Given the description of an element on the screen output the (x, y) to click on. 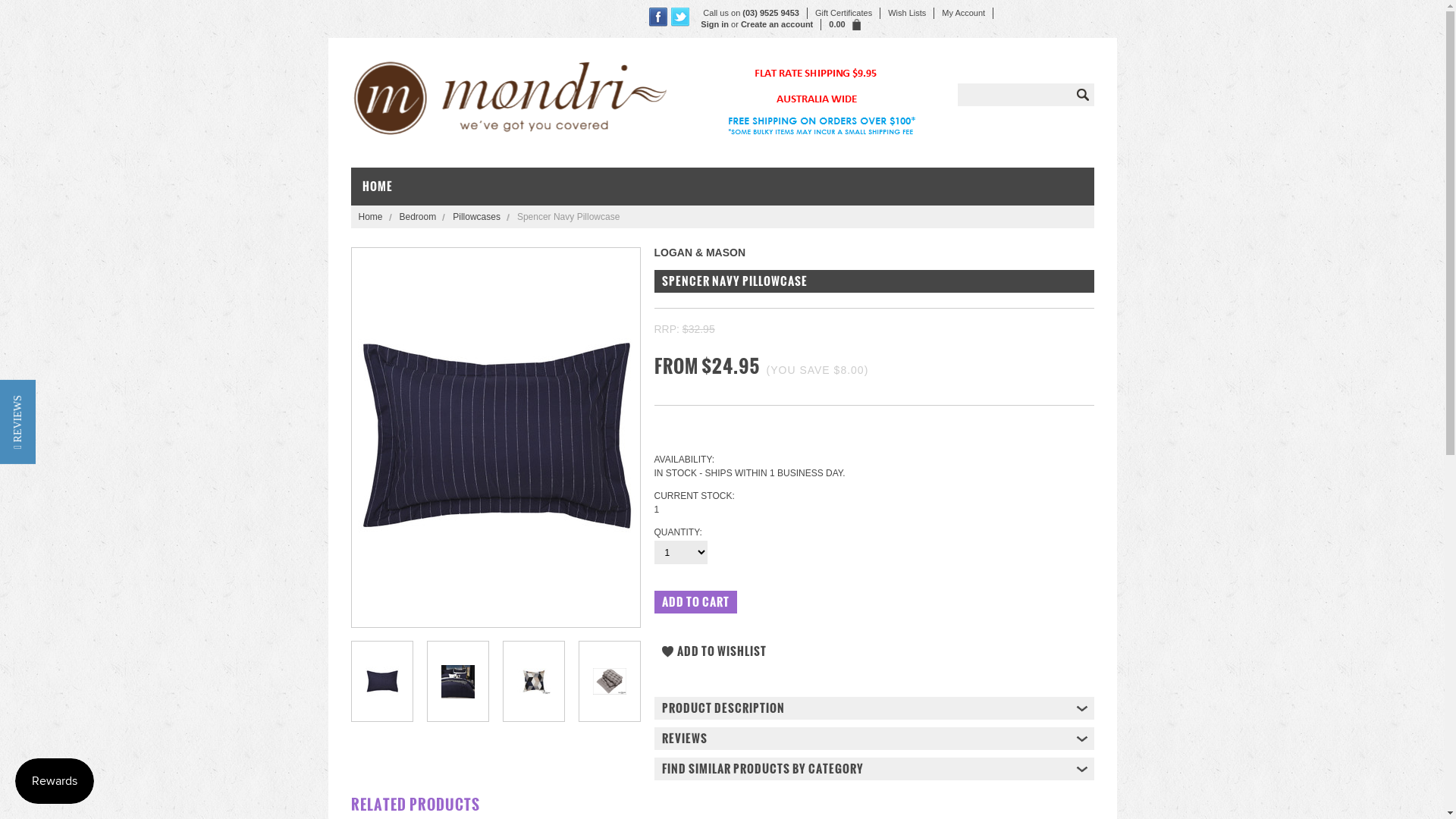
Create an account Element type: text (776, 23)
0 Element type: text (457, 680)
Pillowcase Element type: hover (495, 435)
Facebook Element type: text (658, 16)
Pillowcase Element type: hover (381, 681)
Wish Lists Element type: text (907, 12)
My Account Element type: text (963, 12)
0 Element type: text (381, 680)
LOGAN & MASON Element type: text (699, 252)
0.00 Element type: text (840, 24)
Geo Cushion (Navy) Element type: hover (533, 681)
Smile.io Rewards Program Launcher Element type: hover (54, 780)
Sign in Element type: text (714, 23)
Bedroom Element type: text (422, 216)
Add to Cart Element type: text (694, 601)
Gift Certificates Element type: text (843, 12)
Twitter Element type: text (680, 16)
Quilt Cover Set Element type: hover (457, 680)
SEARCH Element type: text (1081, 94)
0 Element type: text (533, 680)
Callum Natural Throw Element type: hover (609, 681)
0 Element type: text (608, 680)
HOME Element type: text (383, 186)
Pillowcases Element type: text (480, 216)
Home Element type: text (374, 216)
